Given the description of an element on the screen output the (x, y) to click on. 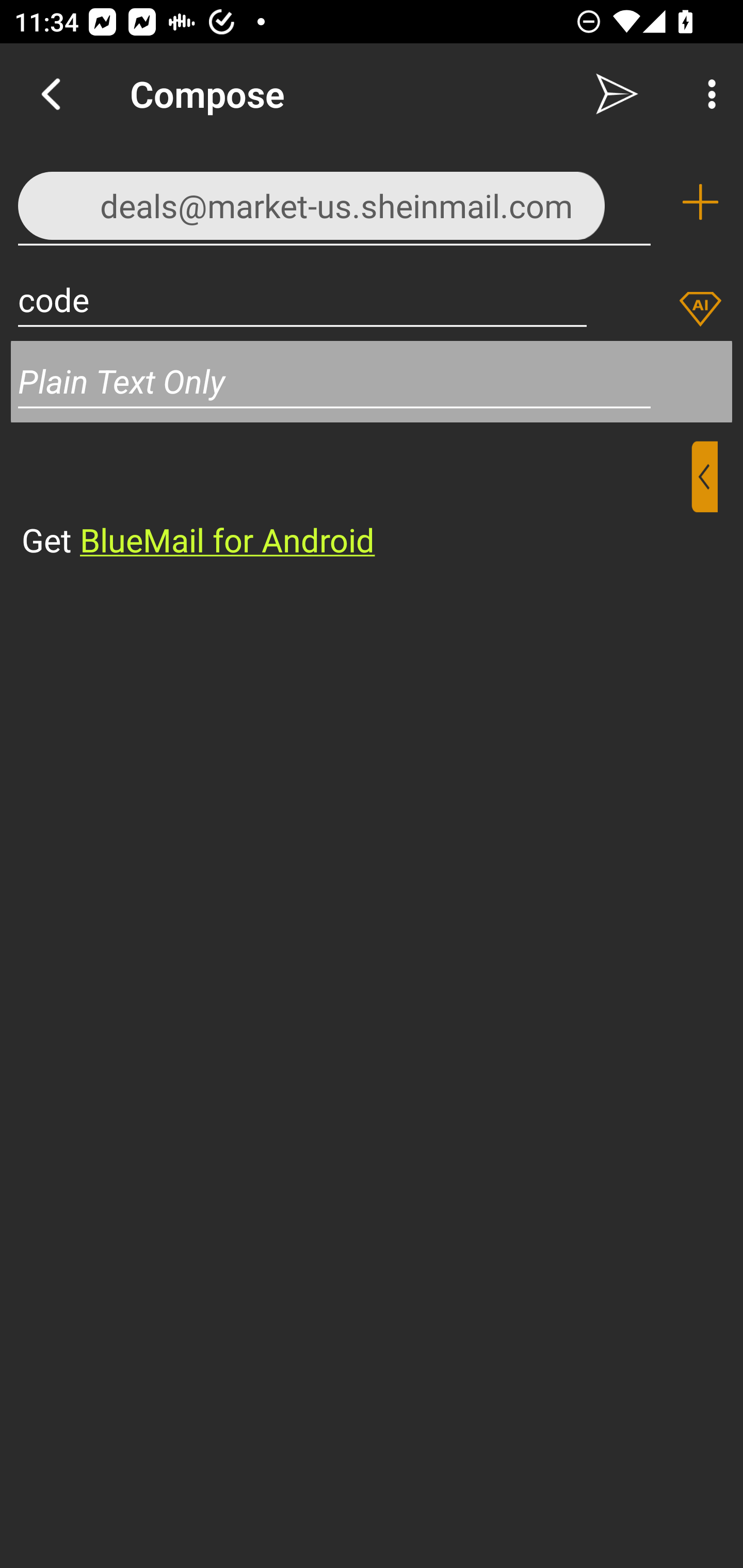
Navigate up (50, 93)
Send (616, 93)
More Options (706, 93)
<deals@market-us.sheinmail.com>,  (334, 201)
Add recipient (To) (699, 201)
code (302, 299)
Plain Text Only (371, 380)


⁣Get BlueMail for Android ​ (355, 501)
